Given the description of an element on the screen output the (x, y) to click on. 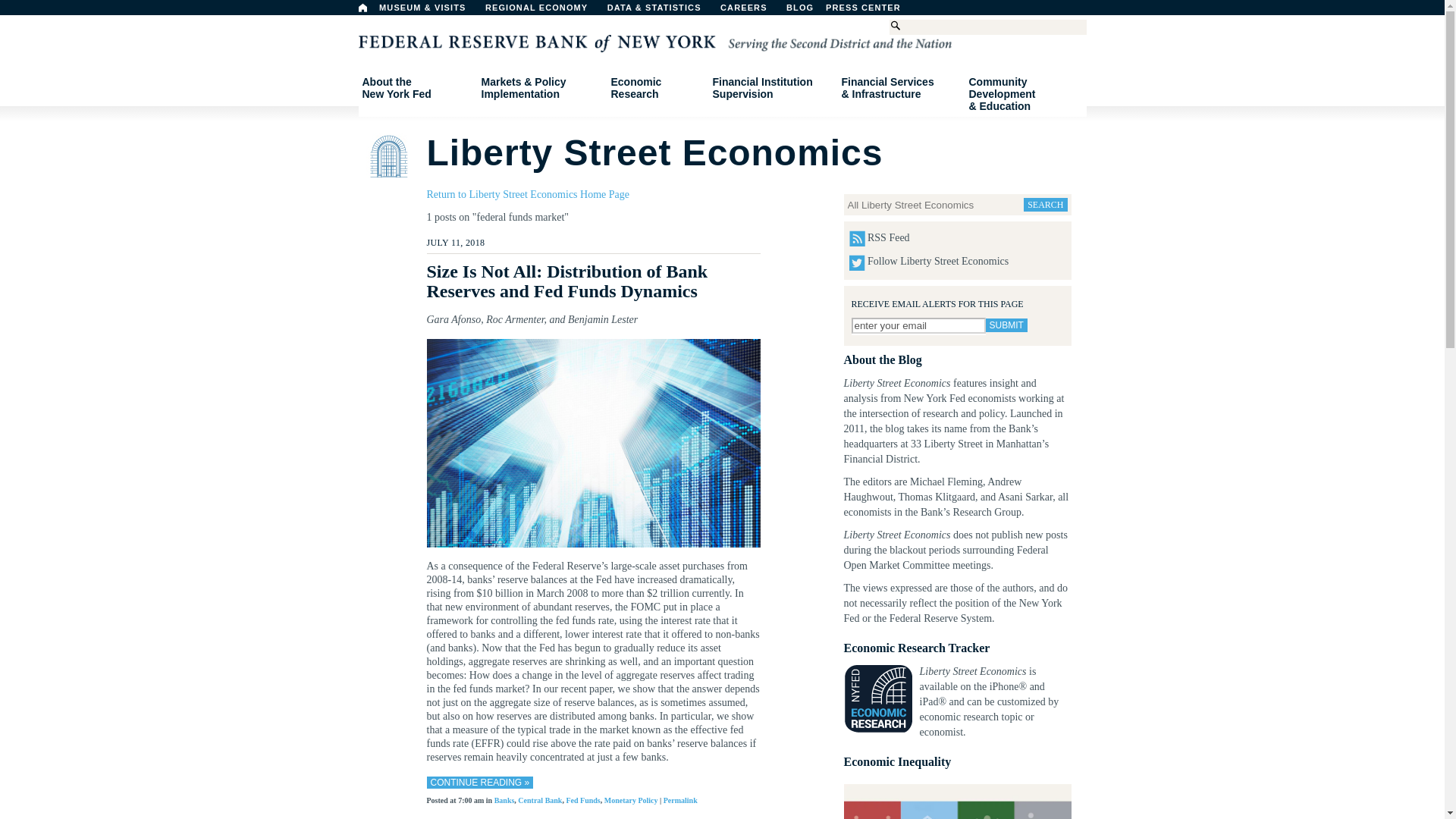
CAREERS (415, 87)
Submit (751, 11)
Home (1006, 325)
REGIONAL ECONOMY (362, 8)
BLOG (543, 11)
PRESS CENTER (839, 11)
enter your email (870, 11)
